Given the description of an element on the screen output the (x, y) to click on. 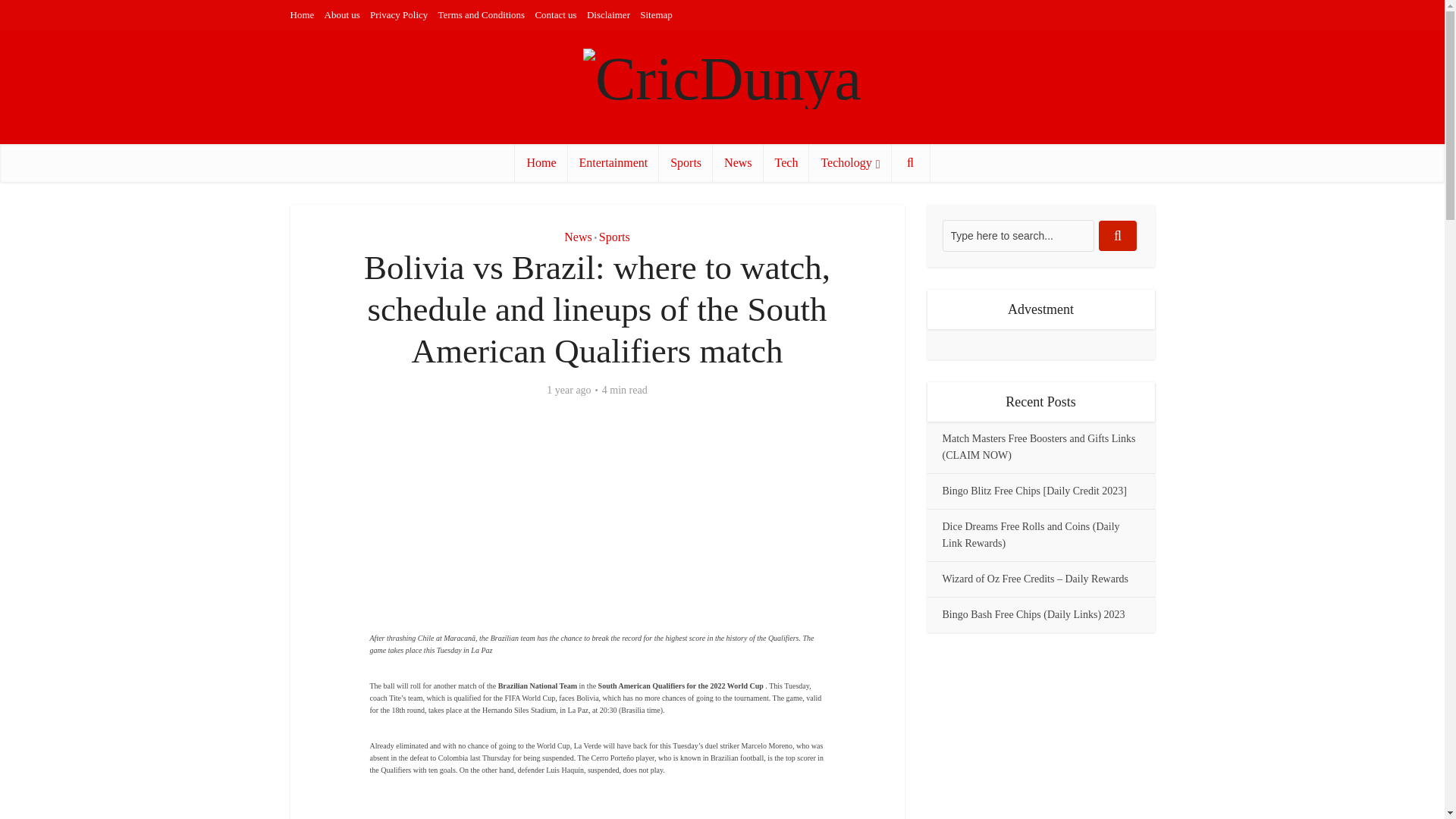
Home (541, 162)
Sports (614, 236)
Sitemap (656, 14)
Tech (785, 162)
Contact us (555, 14)
News (737, 162)
Type here to search... (1017, 235)
Privacy Policy (398, 14)
Disclaimer (608, 14)
Sports (686, 162)
Terms and Conditions (481, 14)
About us (341, 14)
News (577, 236)
Type here to search... (1017, 235)
Techology (850, 162)
